Given the description of an element on the screen output the (x, y) to click on. 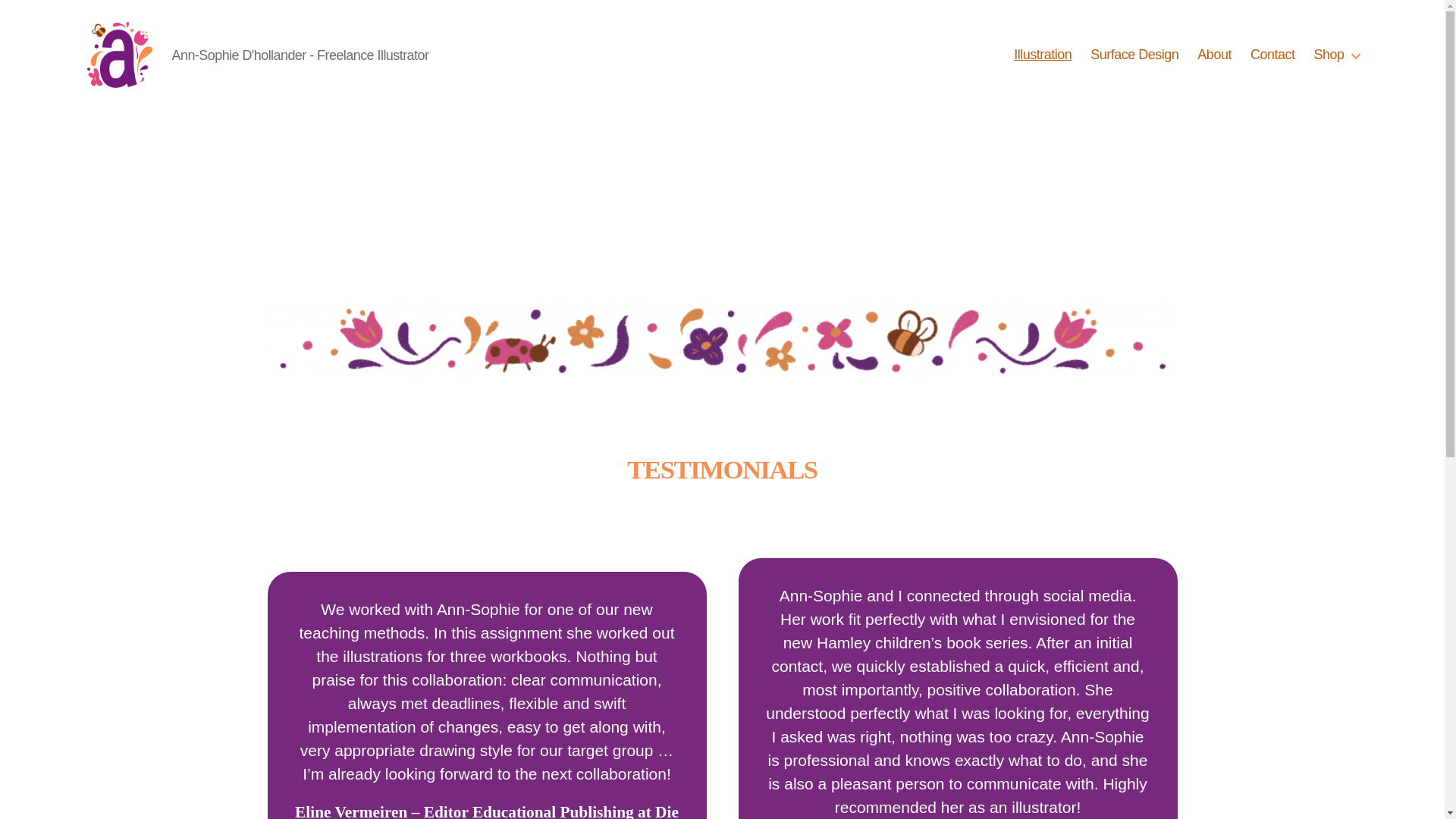
Surface Design Element type: text (1134, 55)
Illustration Element type: text (1042, 55)
Shop Element type: text (1335, 55)
Contact Element type: text (1272, 55)
About Element type: text (1214, 55)
